Given the description of an element on the screen output the (x, y) to click on. 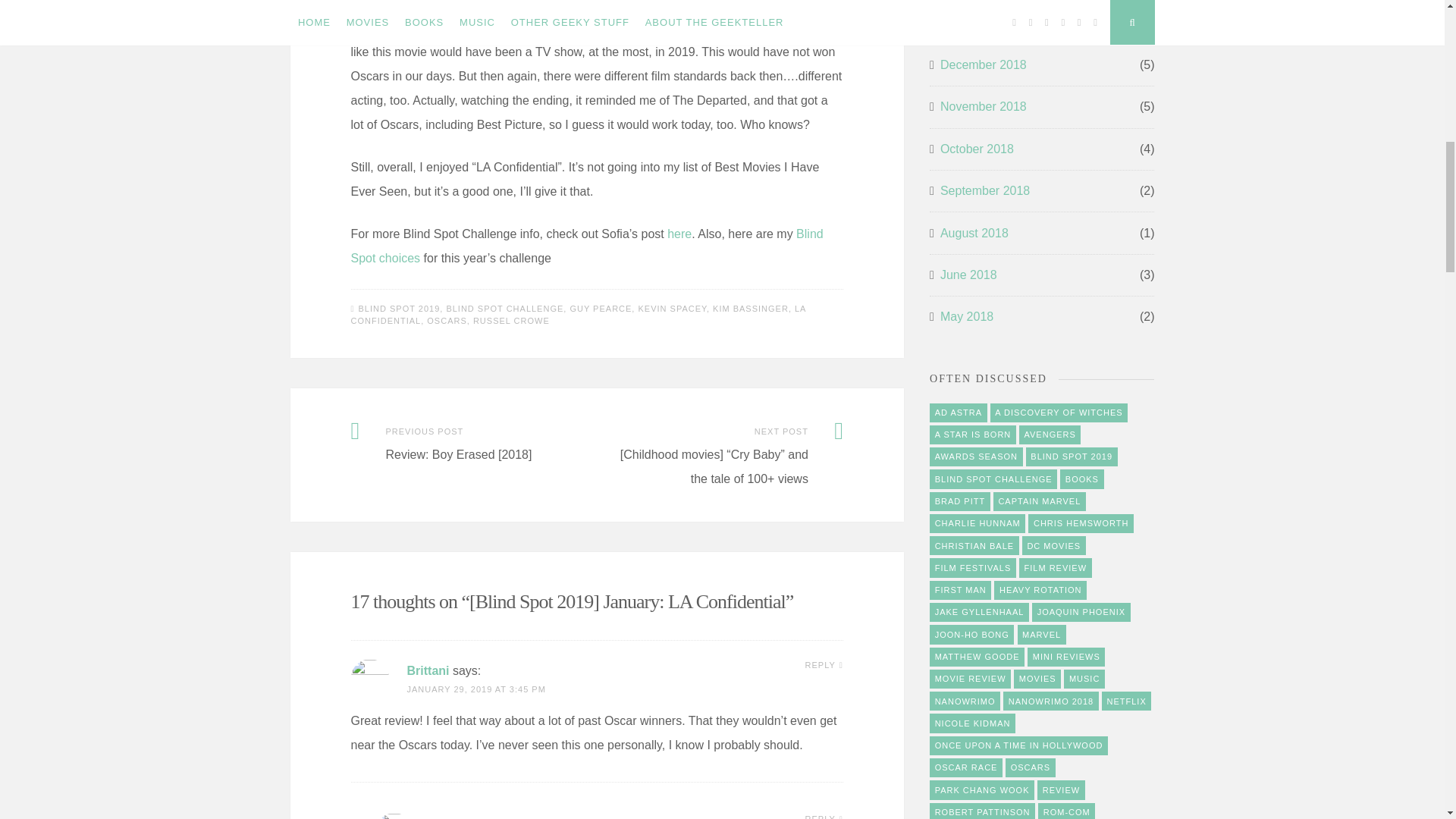
REPLY (824, 816)
LA CONFIDENTIAL (577, 314)
JANUARY 29, 2019 AT 3:45 PM (475, 688)
BLIND SPOT CHALLENGE (504, 307)
GUY PEARCE (600, 307)
BLIND SPOT 2019 (399, 307)
RUSSEL CROWE (511, 320)
KIM BASSINGER (751, 307)
here (678, 233)
REPLY (824, 664)
Brittani (427, 670)
KEVIN SPACEY (671, 307)
OSCARS (445, 320)
Blind Spot choices (586, 245)
